Given the description of an element on the screen output the (x, y) to click on. 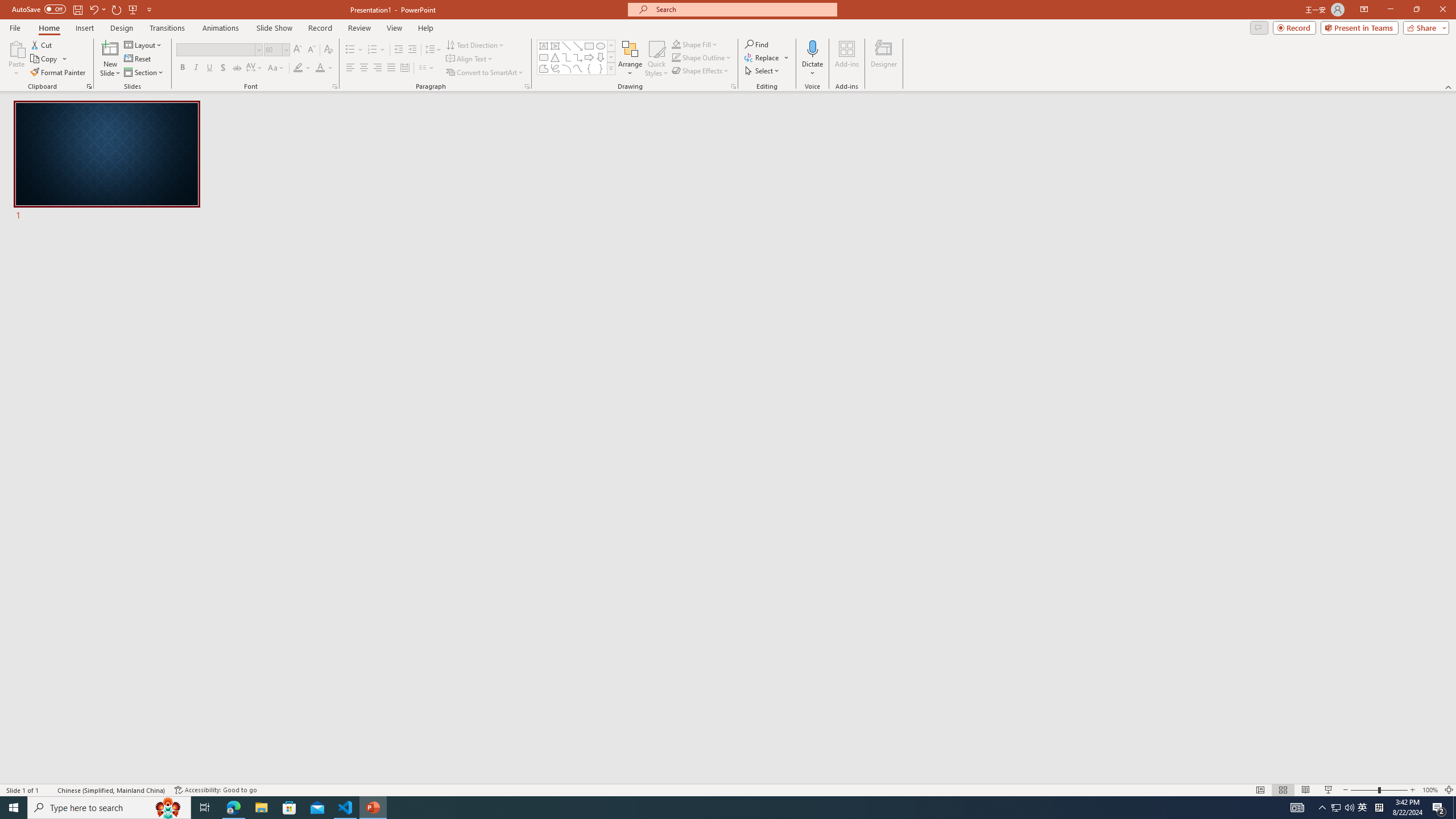
Spell Check  (49, 790)
